Given the description of an element on the screen output the (x, y) to click on. 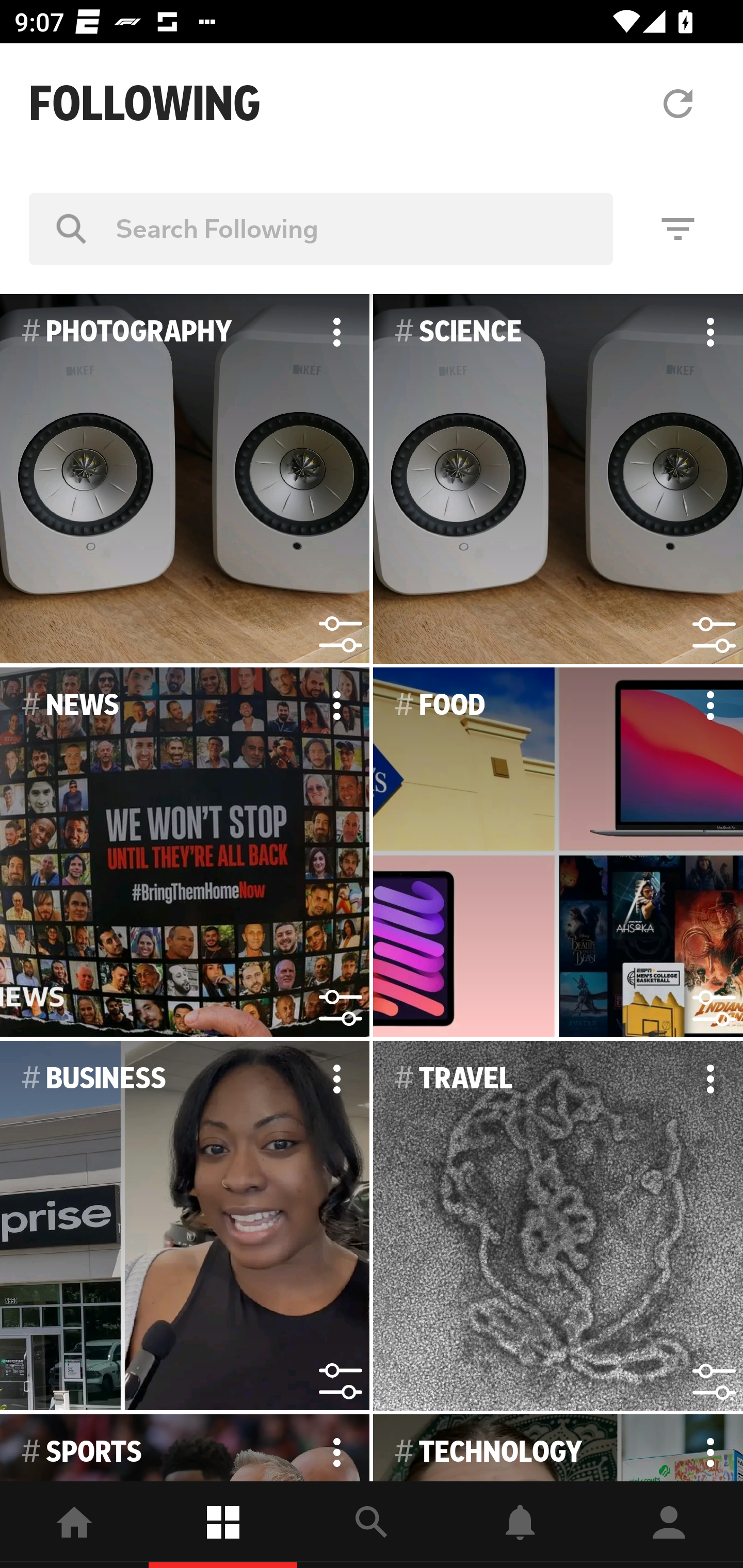
Search Following (320, 228)
# PHOTOGRAPHY Options (184, 478)
Options (336, 332)
# SCIENCE Options (557, 478)
Options (710, 332)
# NEWS Options (184, 852)
Options (336, 705)
# FOOD Options (557, 852)
Options (710, 705)
# BUSINESS Options (184, 1226)
Options (336, 1078)
# TRAVEL Options (557, 1226)
Options (710, 1078)
home (74, 1524)
Following (222, 1524)
explore (371, 1524)
Notifications (519, 1524)
Profile (668, 1524)
